Given the description of an element on the screen output the (x, y) to click on. 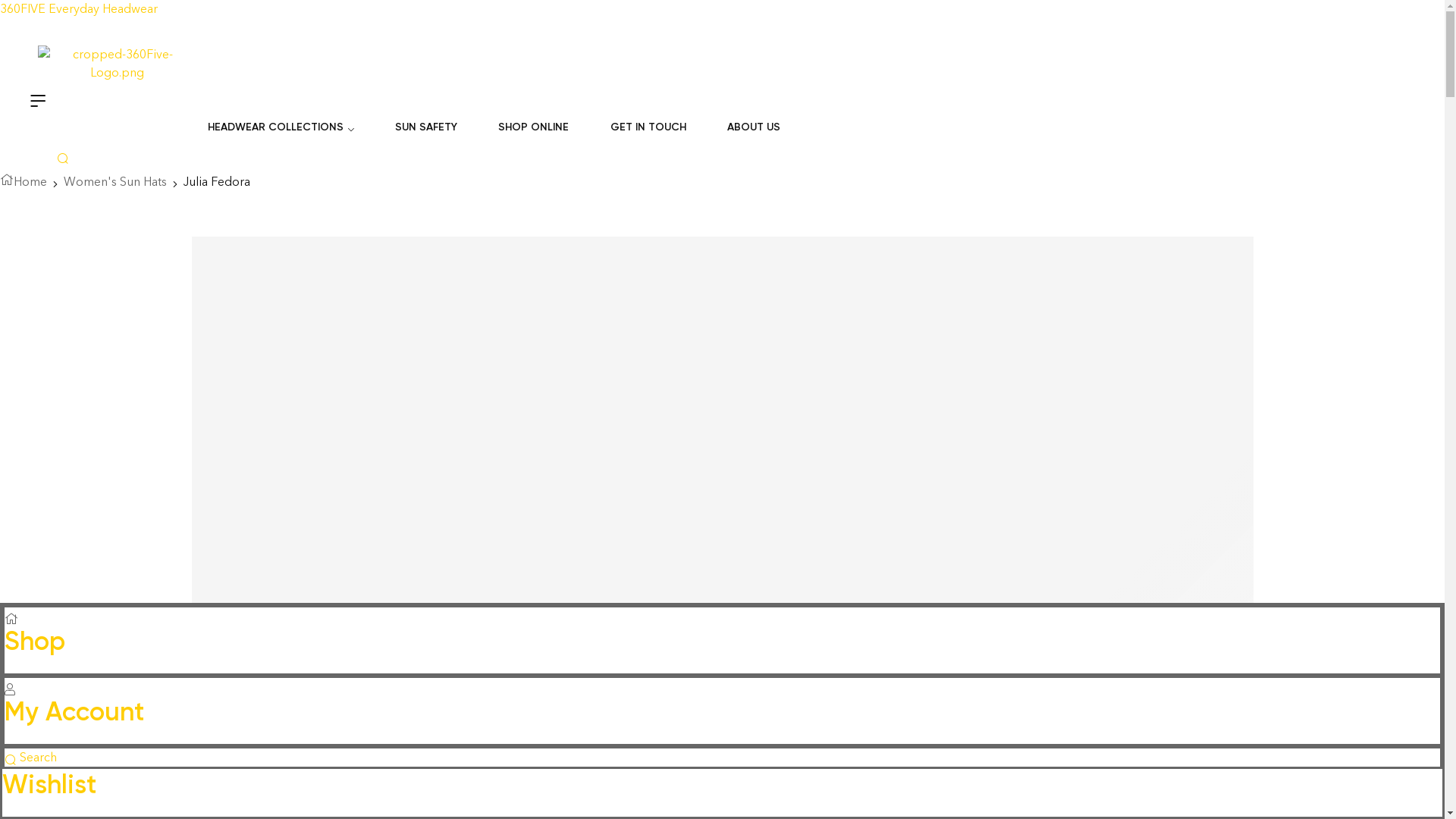
My Account Element type: text (74, 711)
Menu Element type: text (37, 98)
Shop Element type: text (34, 640)
Wishlist Element type: text (49, 784)
HEADWEAR COLLECTIONS Element type: text (280, 127)
SUN SAFETY Element type: text (426, 127)
SHOP ONLINE Element type: text (533, 127)
ABOUT US Element type: text (744, 127)
Women's Sun Hats Element type: text (114, 181)
360FIVE Everyday Headwear Element type: text (78, 8)
Search Element type: text (30, 756)
Home Element type: text (23, 181)
GET IN TOUCH Element type: text (647, 127)
